Given the description of an element on the screen output the (x, y) to click on. 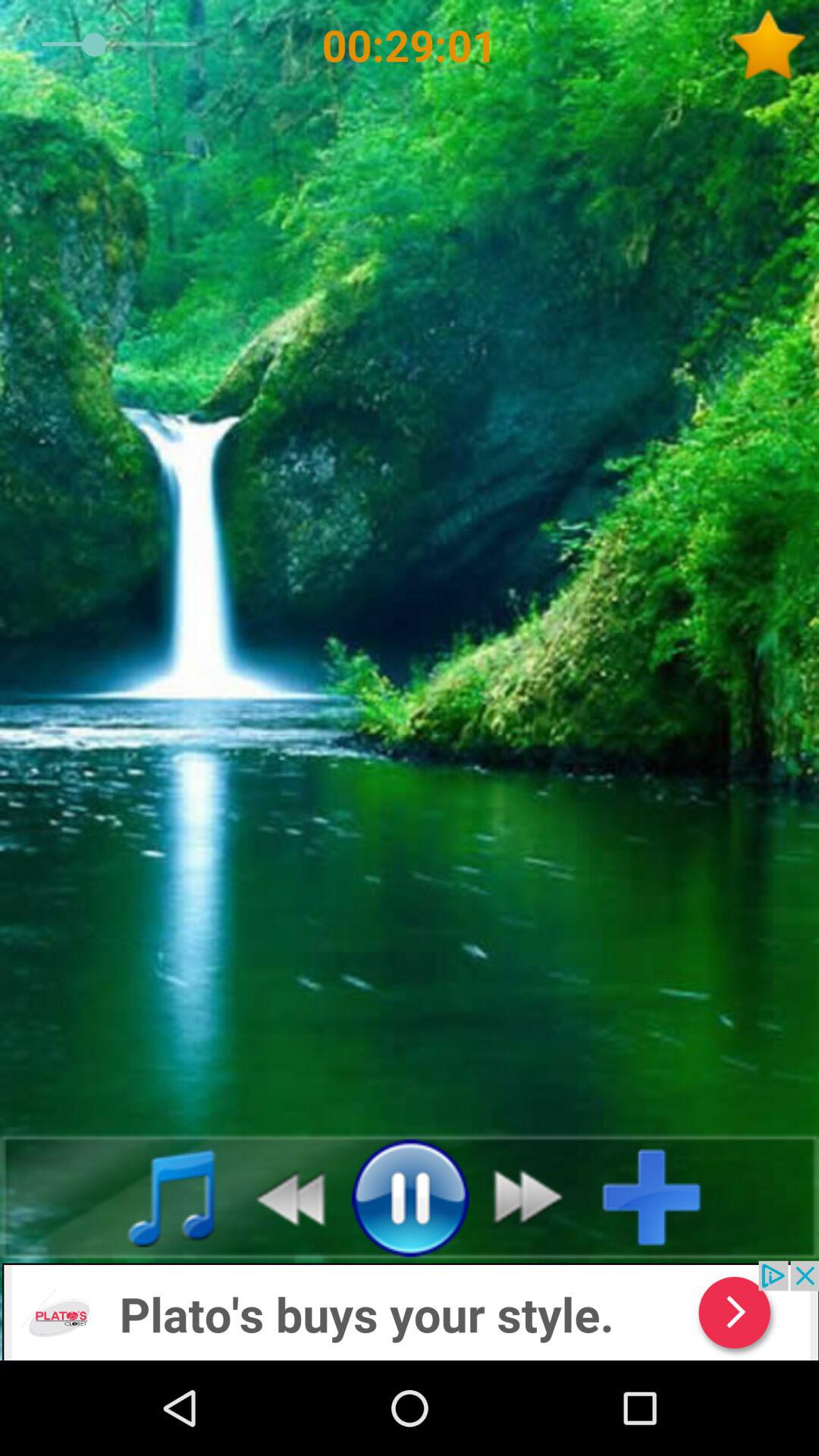
go to favorite (774, 44)
